Given the description of an element on the screen output the (x, y) to click on. 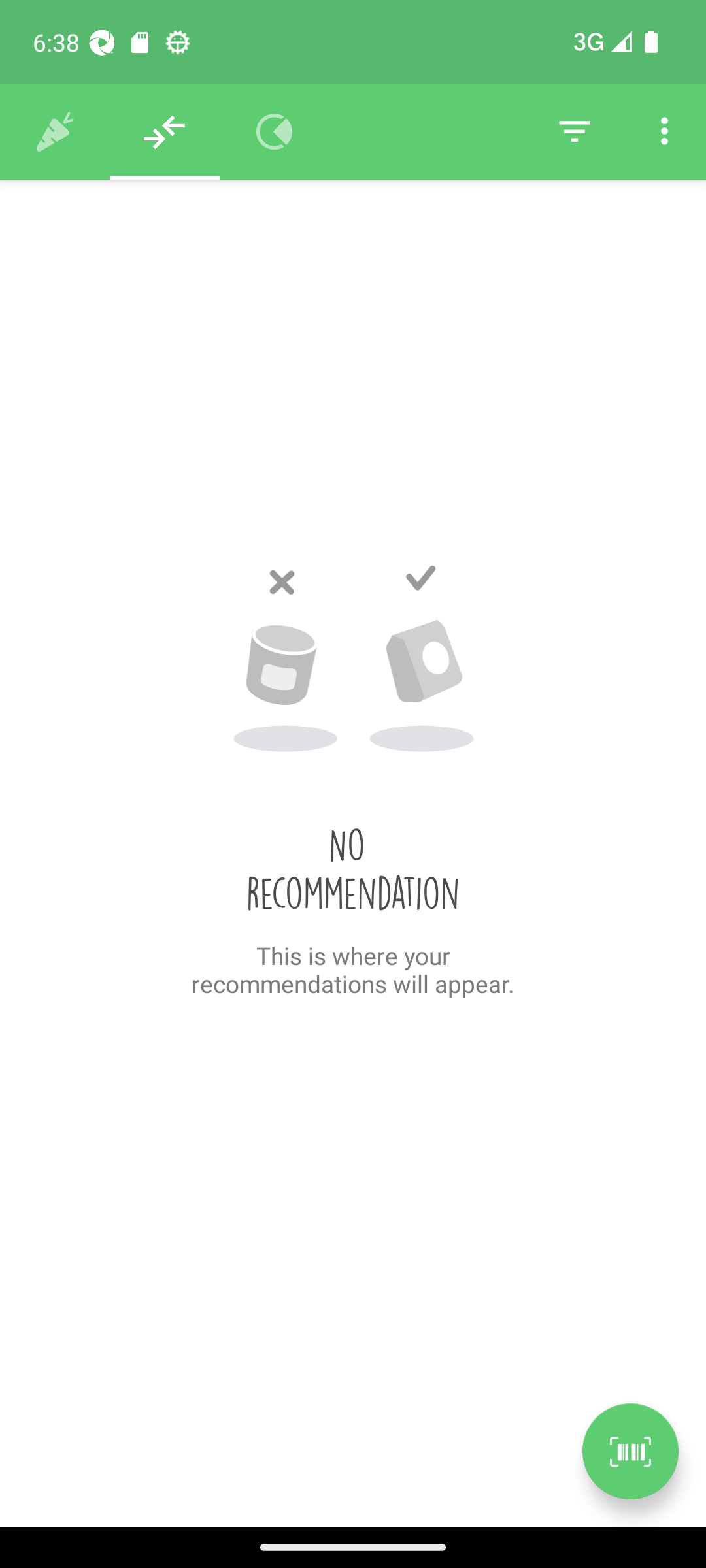
History (55, 131)
Overview (274, 131)
Filter (573, 131)
Settings (664, 131)
Scan a product (630, 1451)
